Given the description of an element on the screen output the (x, y) to click on. 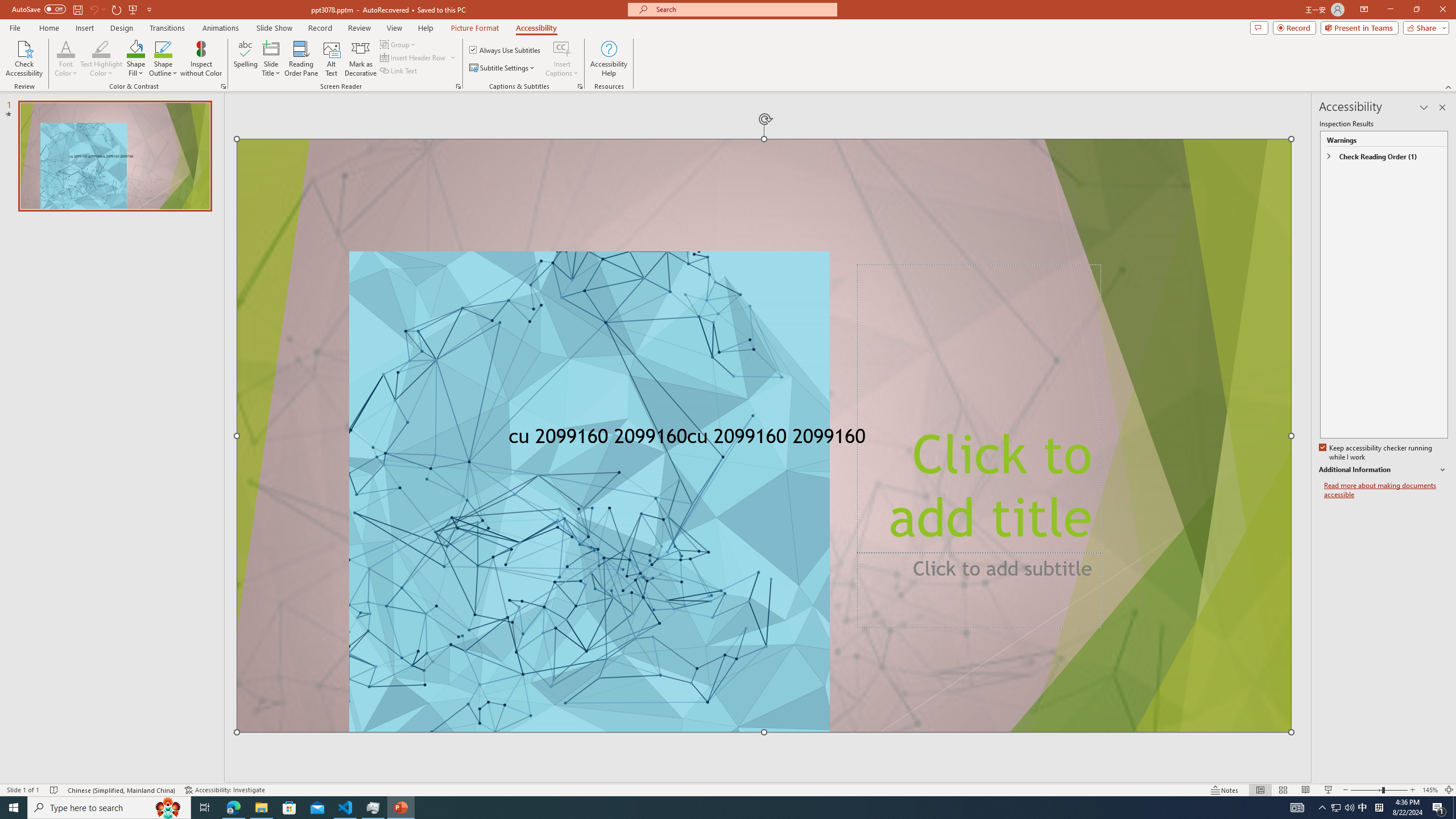
Group (398, 44)
Shape Outline (163, 58)
Captions & Subtitles (580, 85)
Inspect without Color (201, 58)
